Given the description of an element on the screen output the (x, y) to click on. 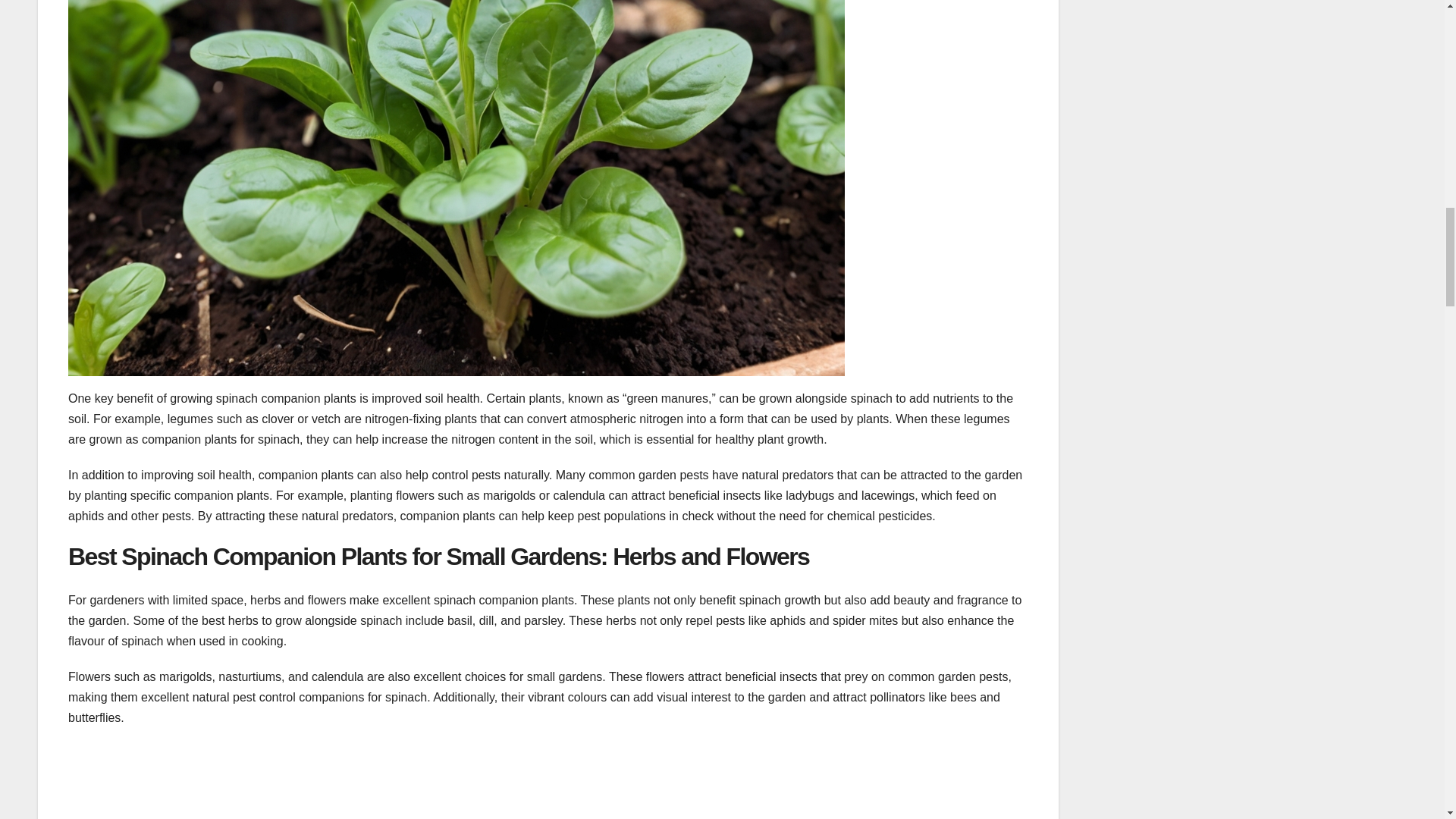
Best Companion Planting Flowers for the Vegetable Garden (547, 780)
